Given the description of an element on the screen output the (x, y) to click on. 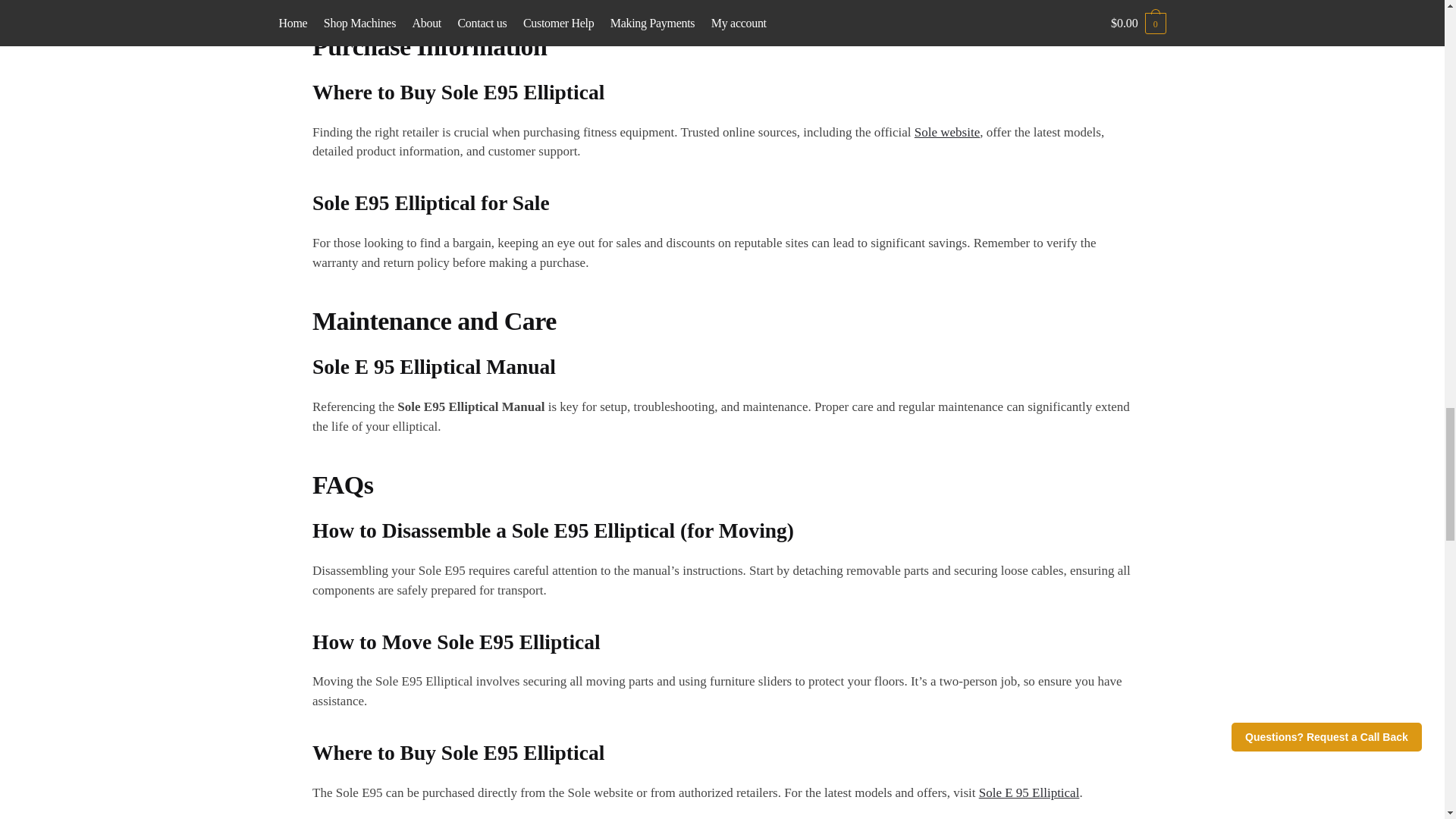
Sole website (946, 132)
Sole E 95 Elliptical (1029, 792)
